Given the description of an element on the screen output the (x, y) to click on. 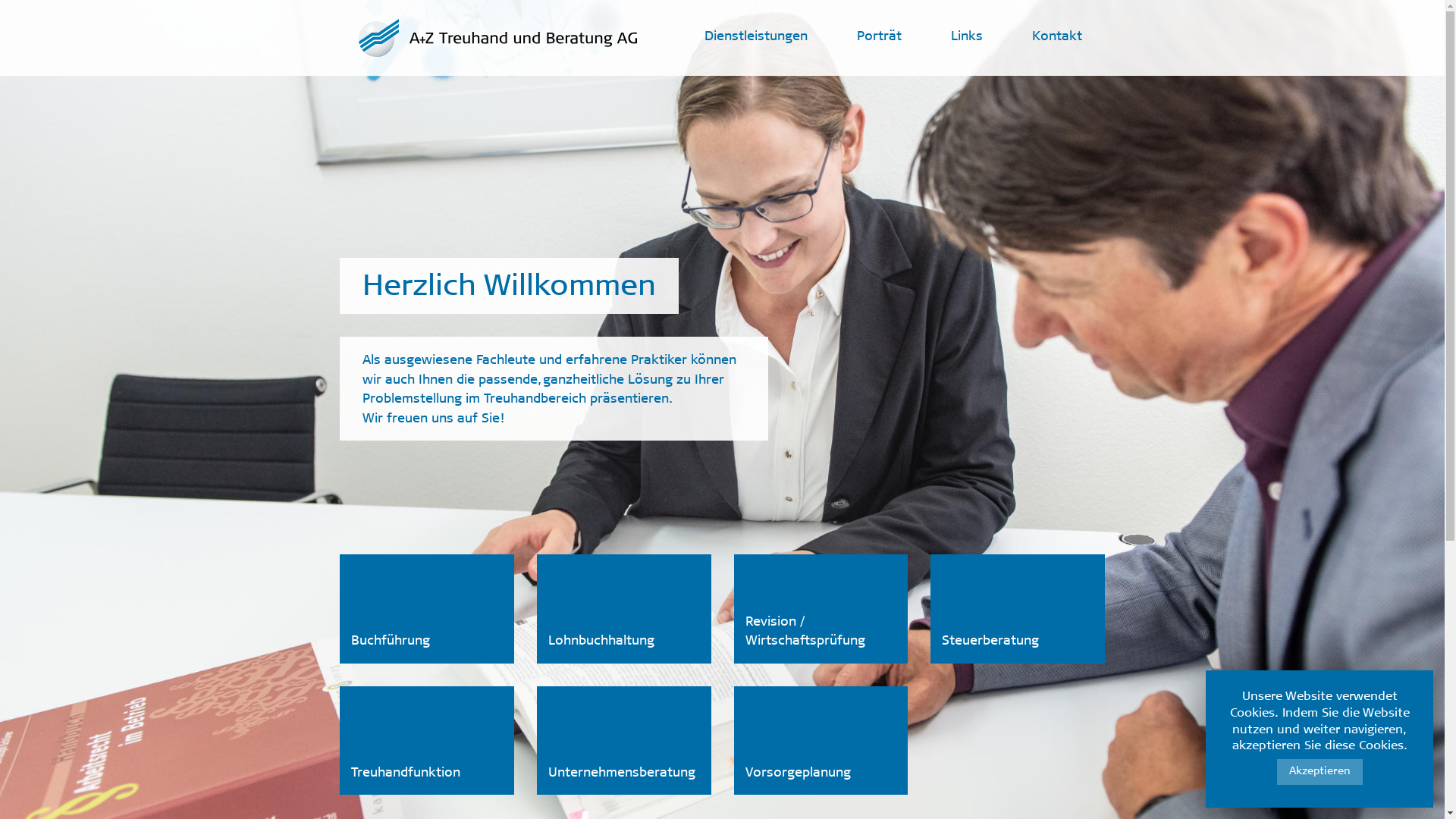
Steuerberatung Element type: text (1017, 608)
Treuhandfunktion Element type: text (426, 740)
Vorsorgeplanung Element type: text (821, 740)
Lohnbuchhaltung Element type: text (623, 608)
A+Z Treuhand und Beratung AG Element type: text (498, 37)
Dienstleistungen Element type: text (755, 37)
Kontakt Element type: text (1056, 37)
Akzeptieren Element type: text (1319, 771)
Links Element type: text (966, 37)
